Given the description of an element on the screen output the (x, y) to click on. 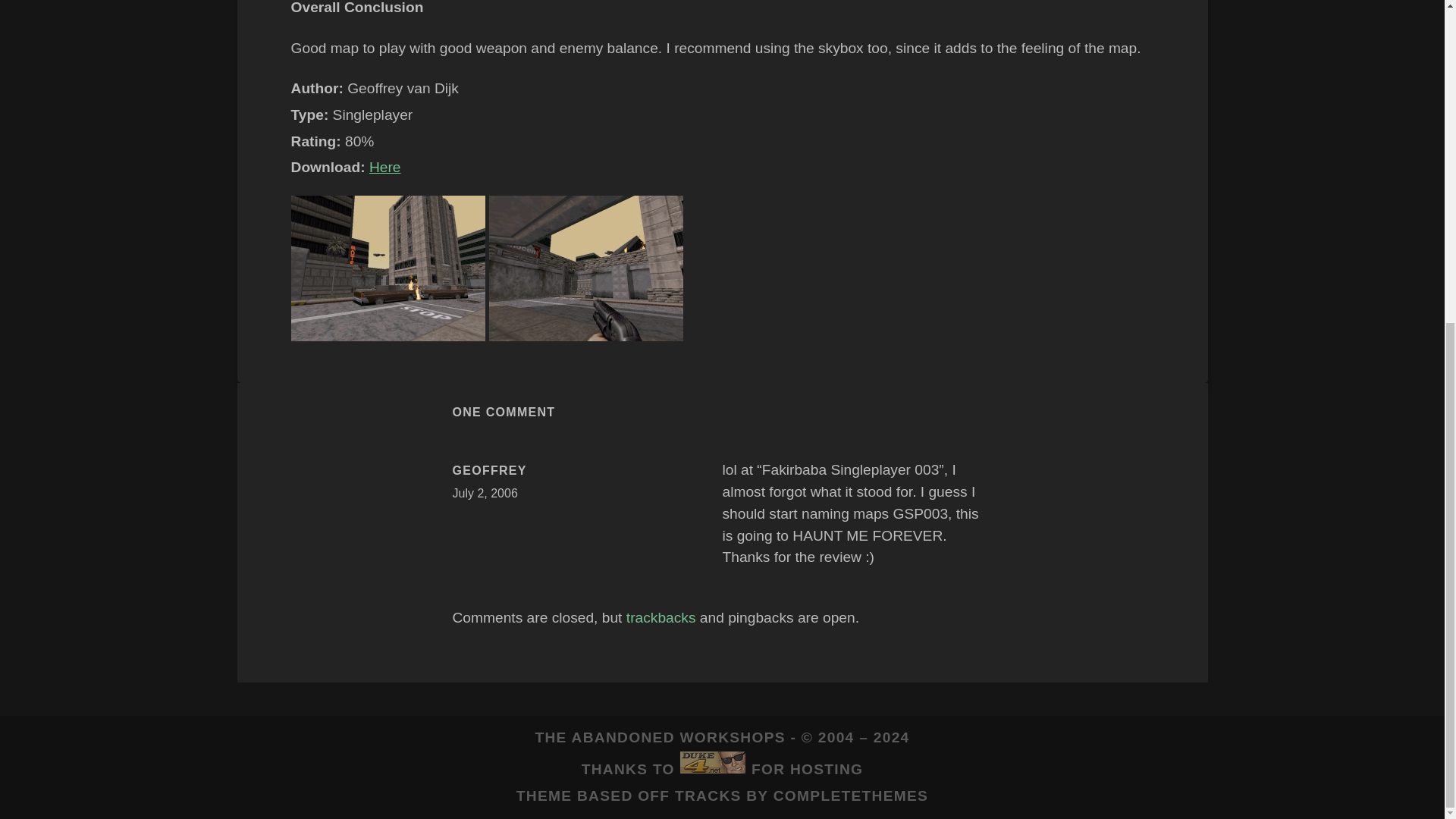
Here (385, 166)
trackbacks (660, 617)
Trackback URL for this post (660, 617)
TRACKS (708, 795)
